Given the description of an element on the screen output the (x, y) to click on. 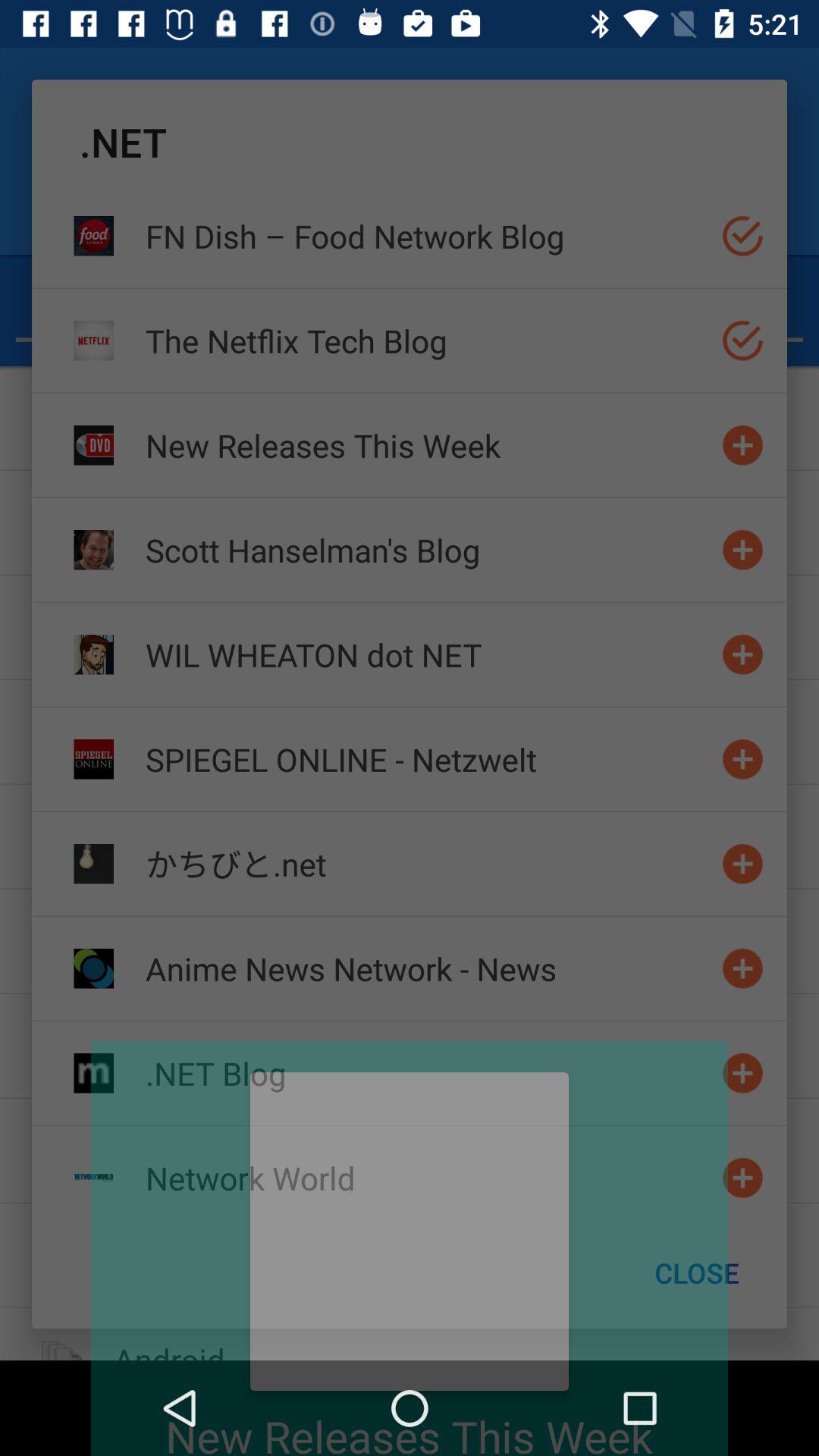
go to add (742, 549)
